Given the description of an element on the screen output the (x, y) to click on. 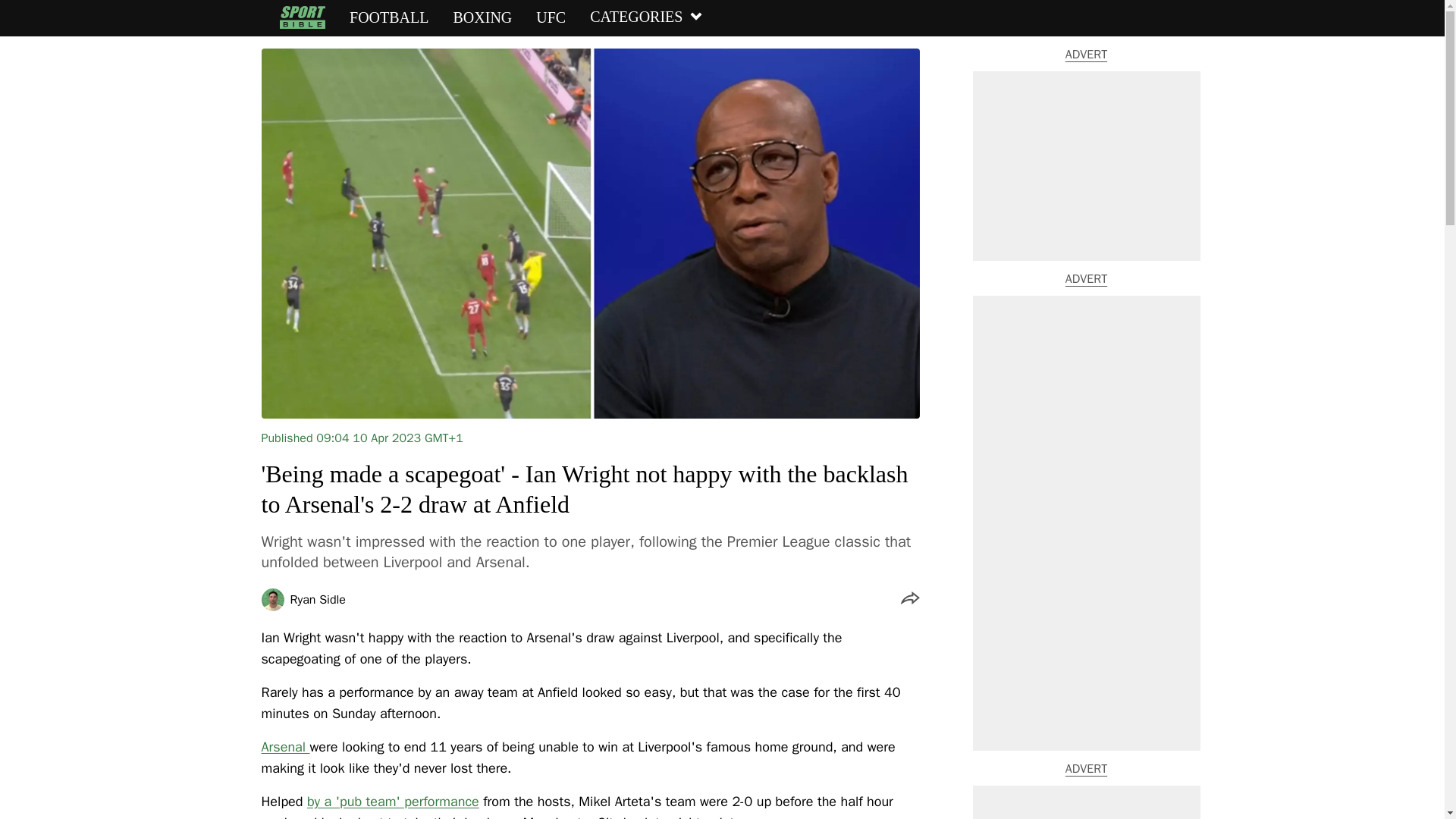
3rd party ad content (1085, 802)
BOXING (482, 17)
FOOTBALL (388, 17)
3rd party ad content (1085, 166)
